Given the description of an element on the screen output the (x, y) to click on. 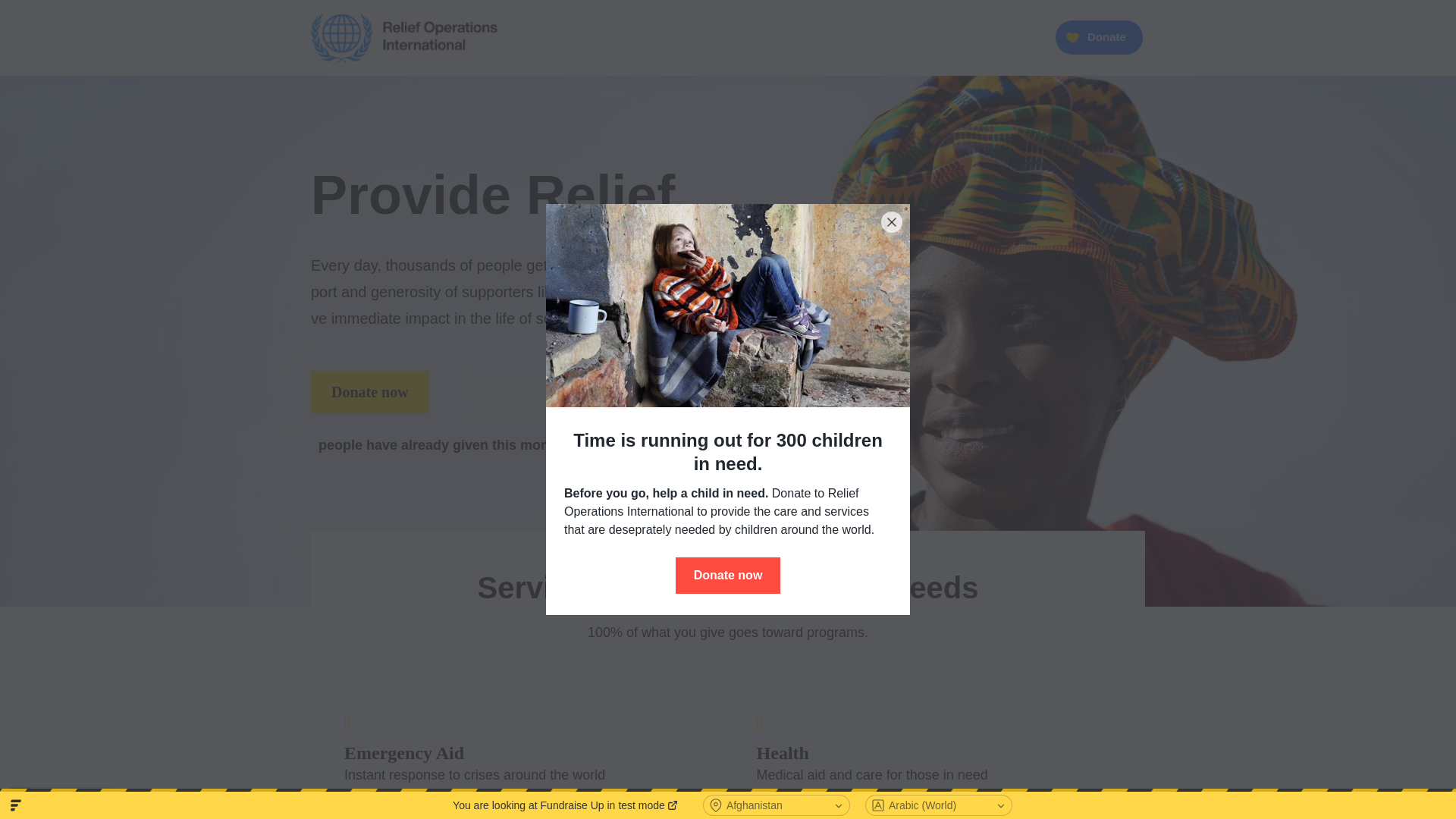
Donate now (933, 746)
Donate Button (370, 392)
